Given the description of an element on the screen output the (x, y) to click on. 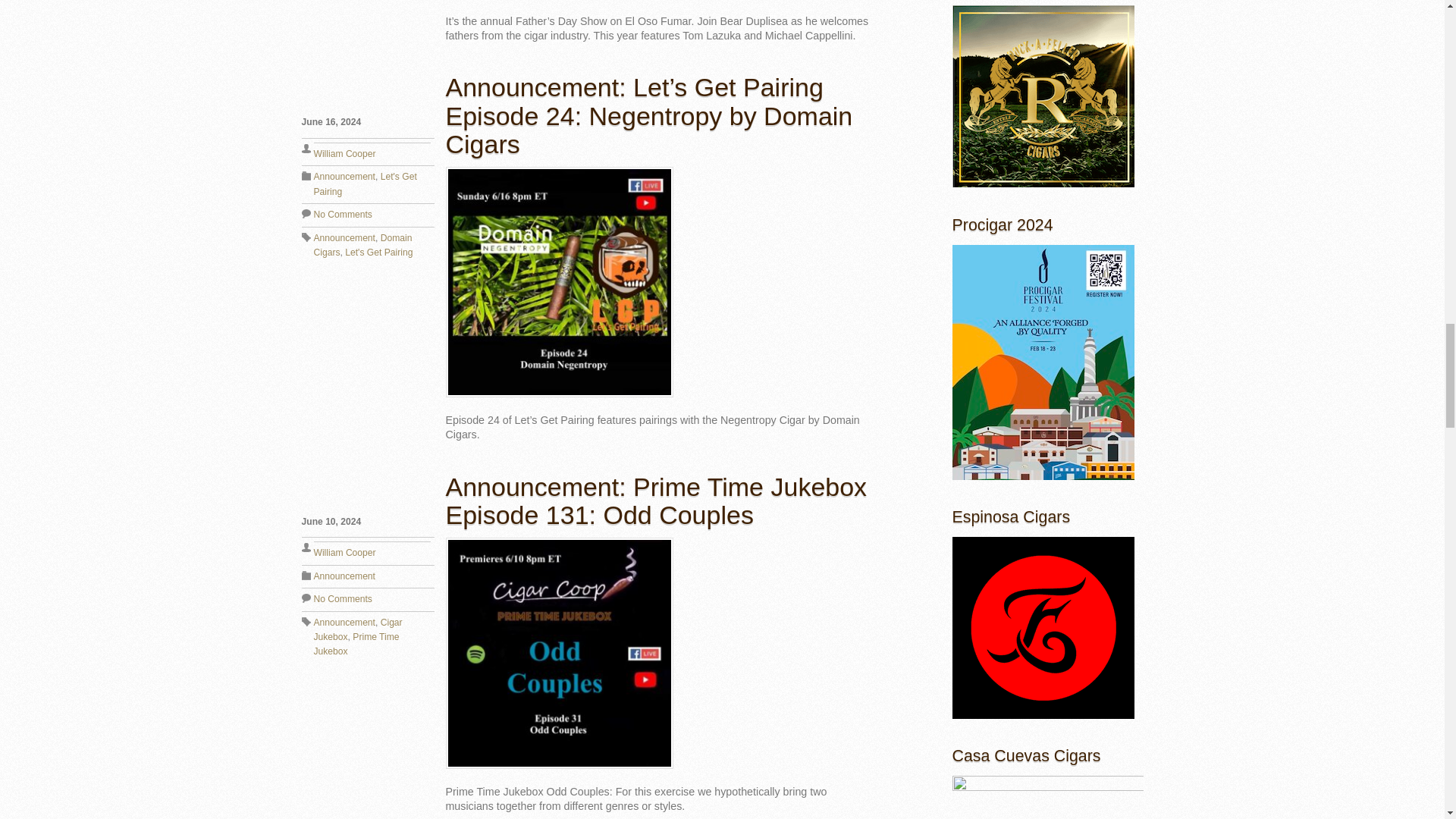
Announcement: Prime Time Jukebox Episode 131: Odd Couples (656, 500)
